Given the description of an element on the screen output the (x, y) to click on. 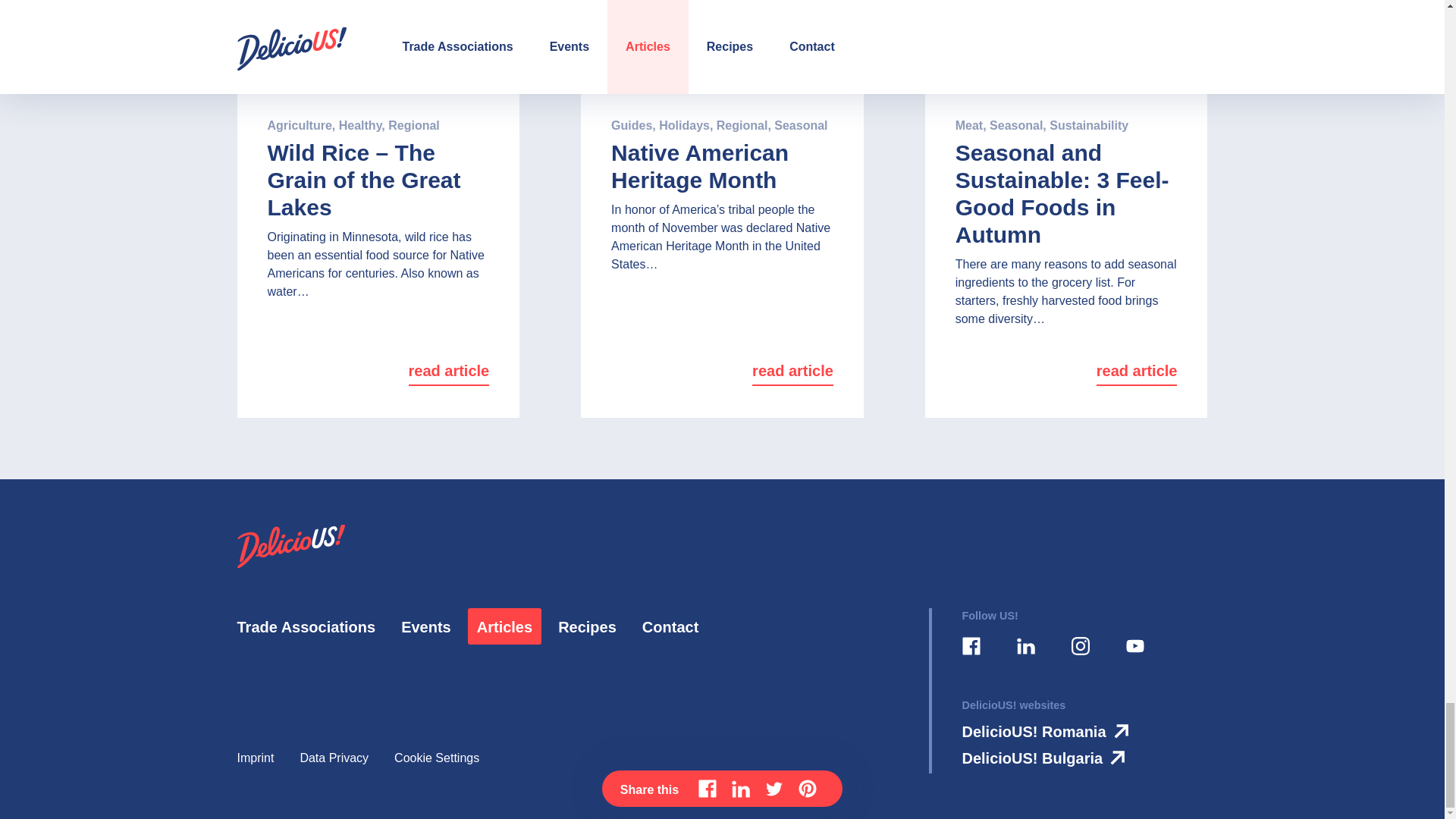
YouTube (1134, 646)
DelicioUS! Bulgaria (1046, 757)
DelicioUS! Romania (1047, 731)
Instagram (1079, 646)
LinkedIn (1025, 646)
Trade Associations (305, 627)
Facebook (970, 646)
